Given the description of an element on the screen output the (x, y) to click on. 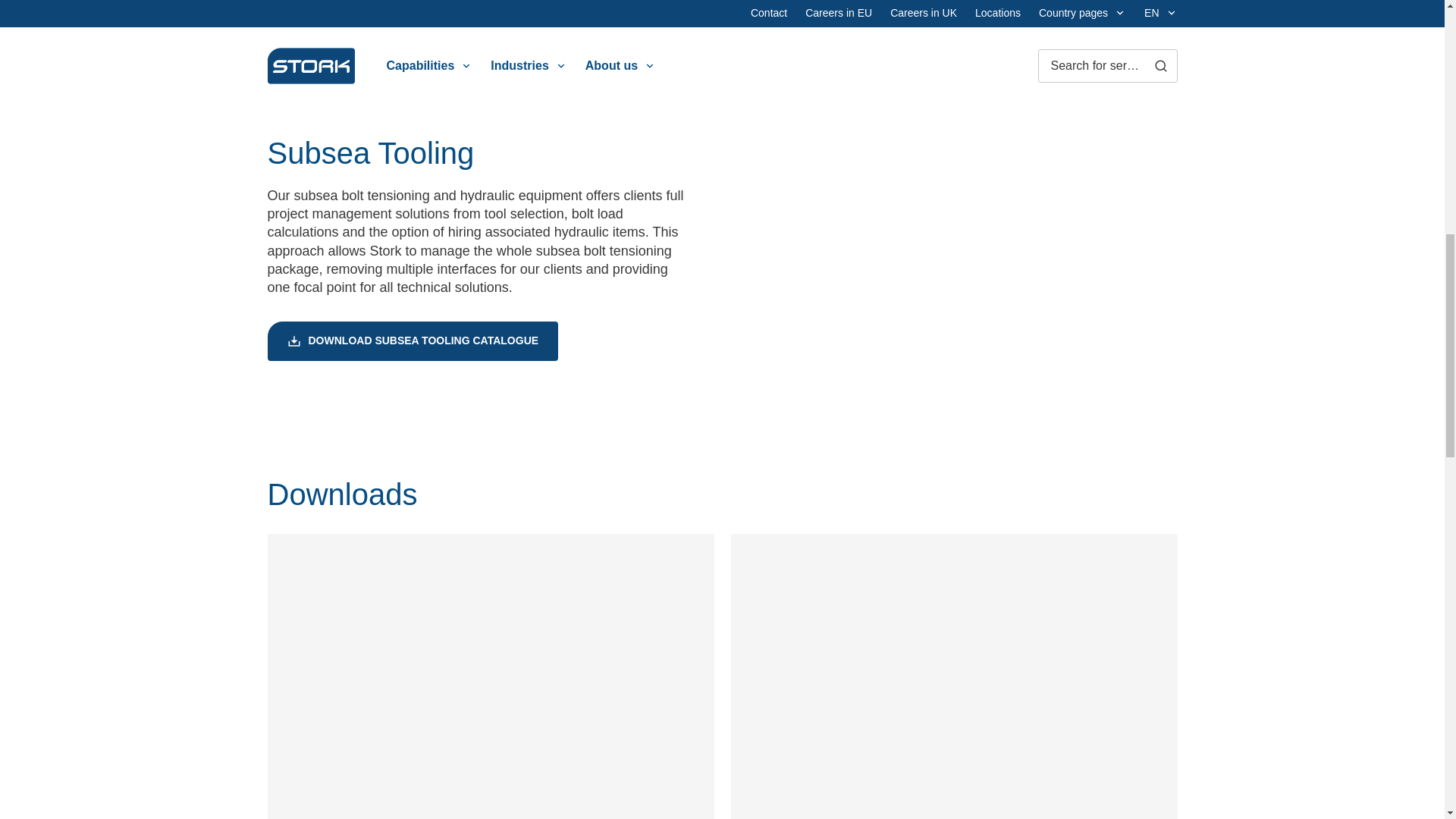
Download our catalogue (489, 676)
Read our brochure (953, 676)
